Given the description of an element on the screen output the (x, y) to click on. 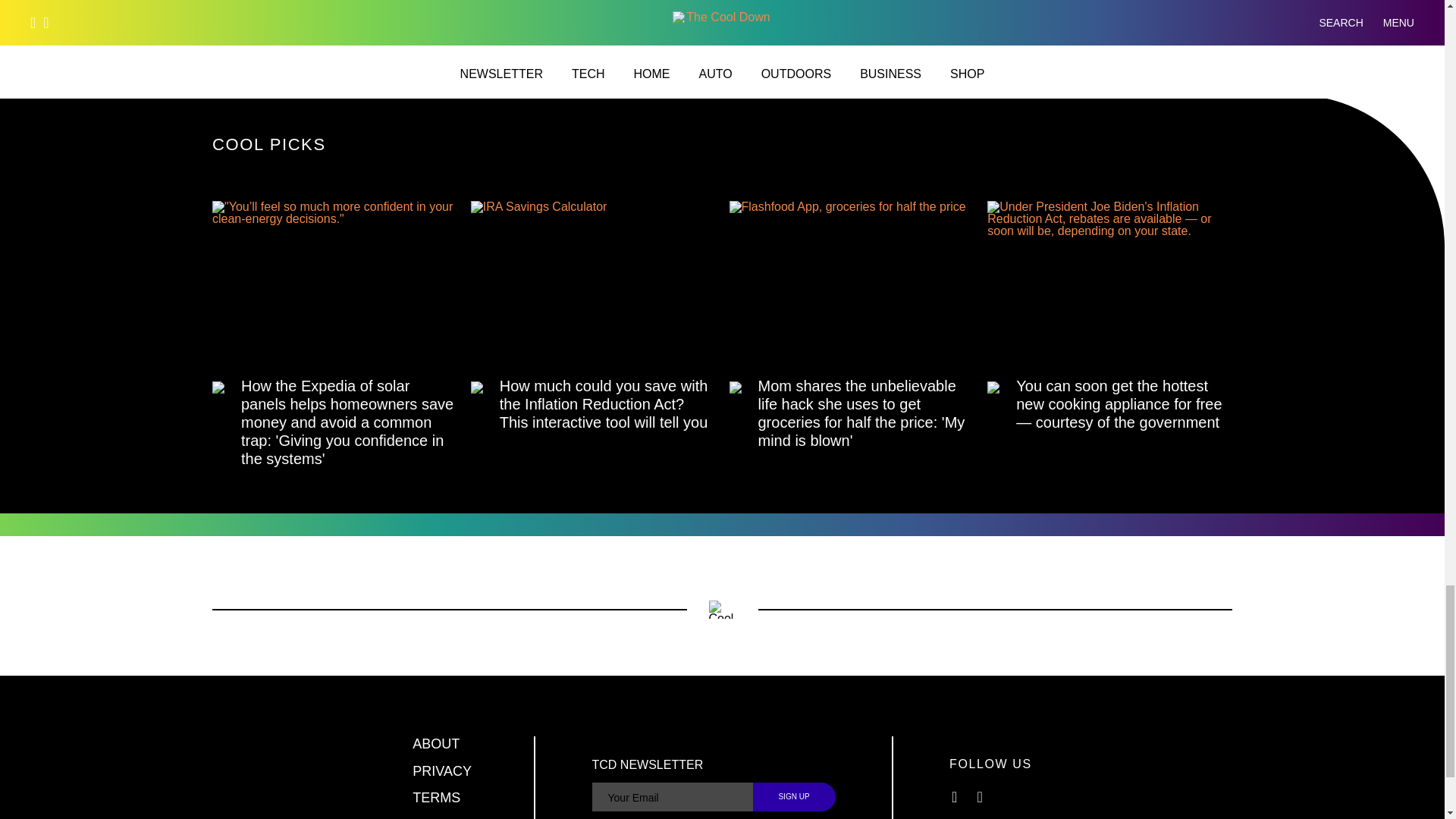
Sign Up (793, 796)
